Given the description of an element on the screen output the (x, y) to click on. 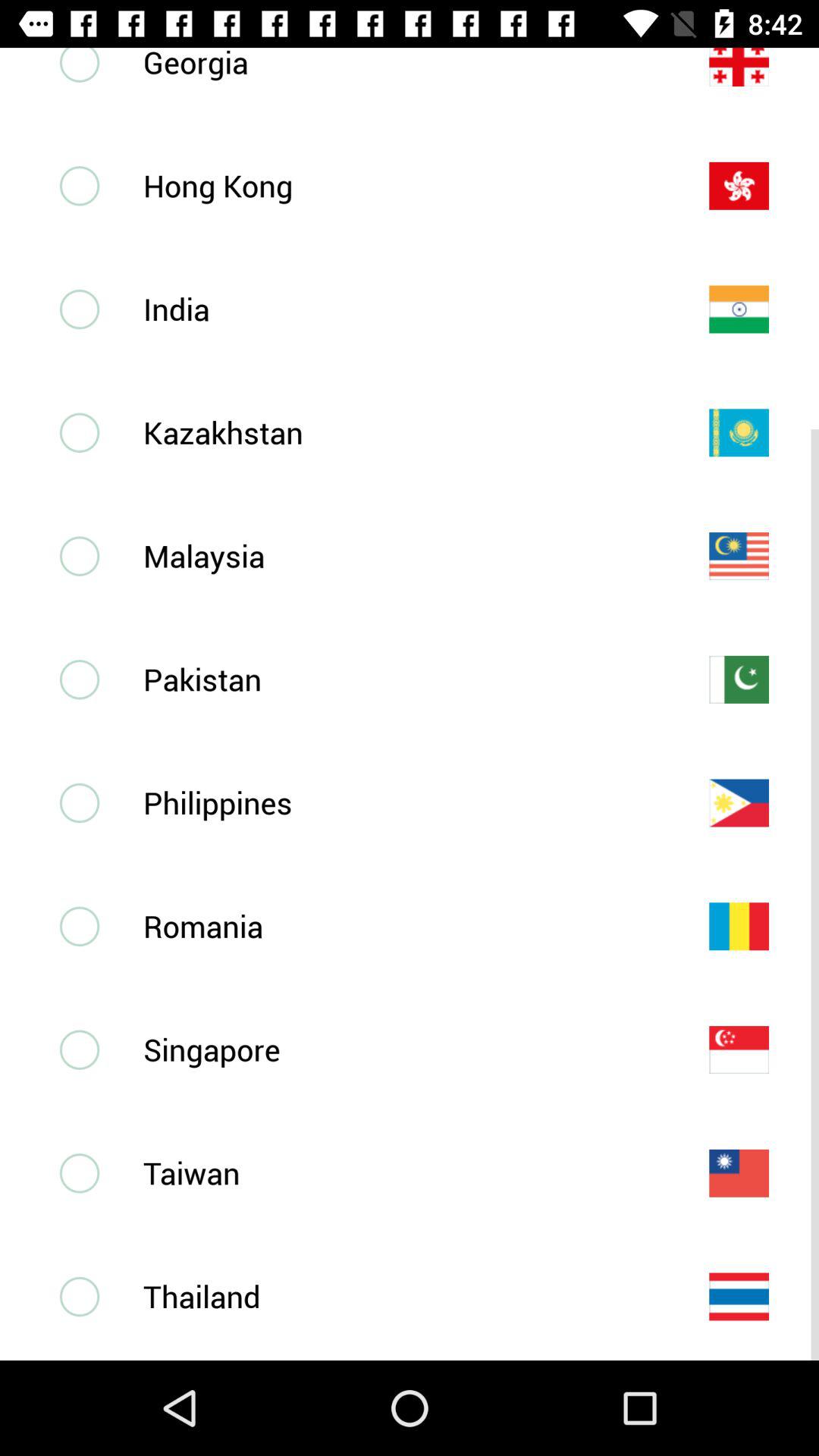
tap the romania (401, 926)
